Given the description of an element on the screen output the (x, y) to click on. 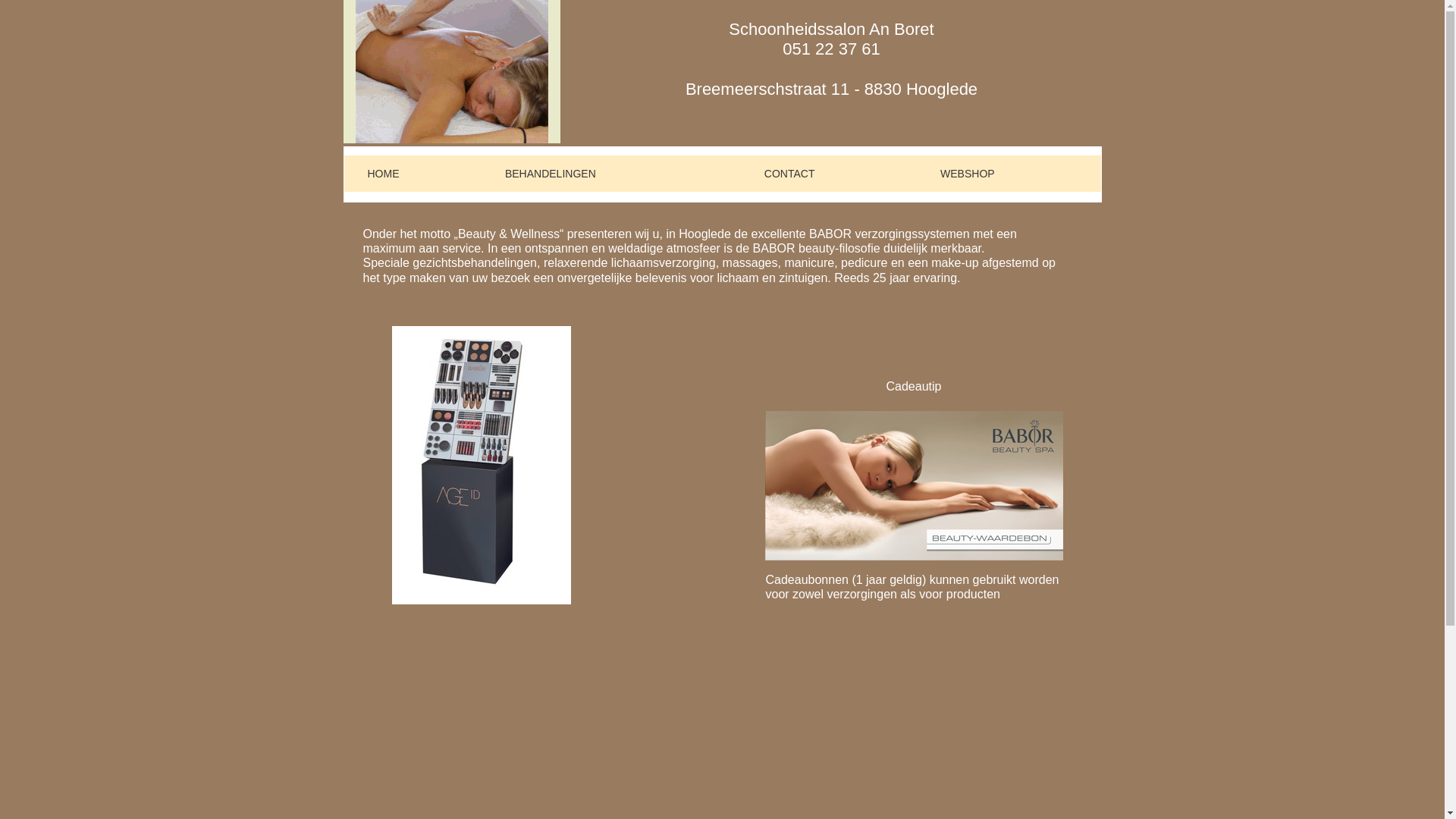
CONTACT Element type: text (828, 172)
HOME Element type: text (412, 172)
WEBSHOP Element type: text (1008, 172)
BEHANDELINGEN Element type: text (610, 172)
